Given the description of an element on the screen output the (x, y) to click on. 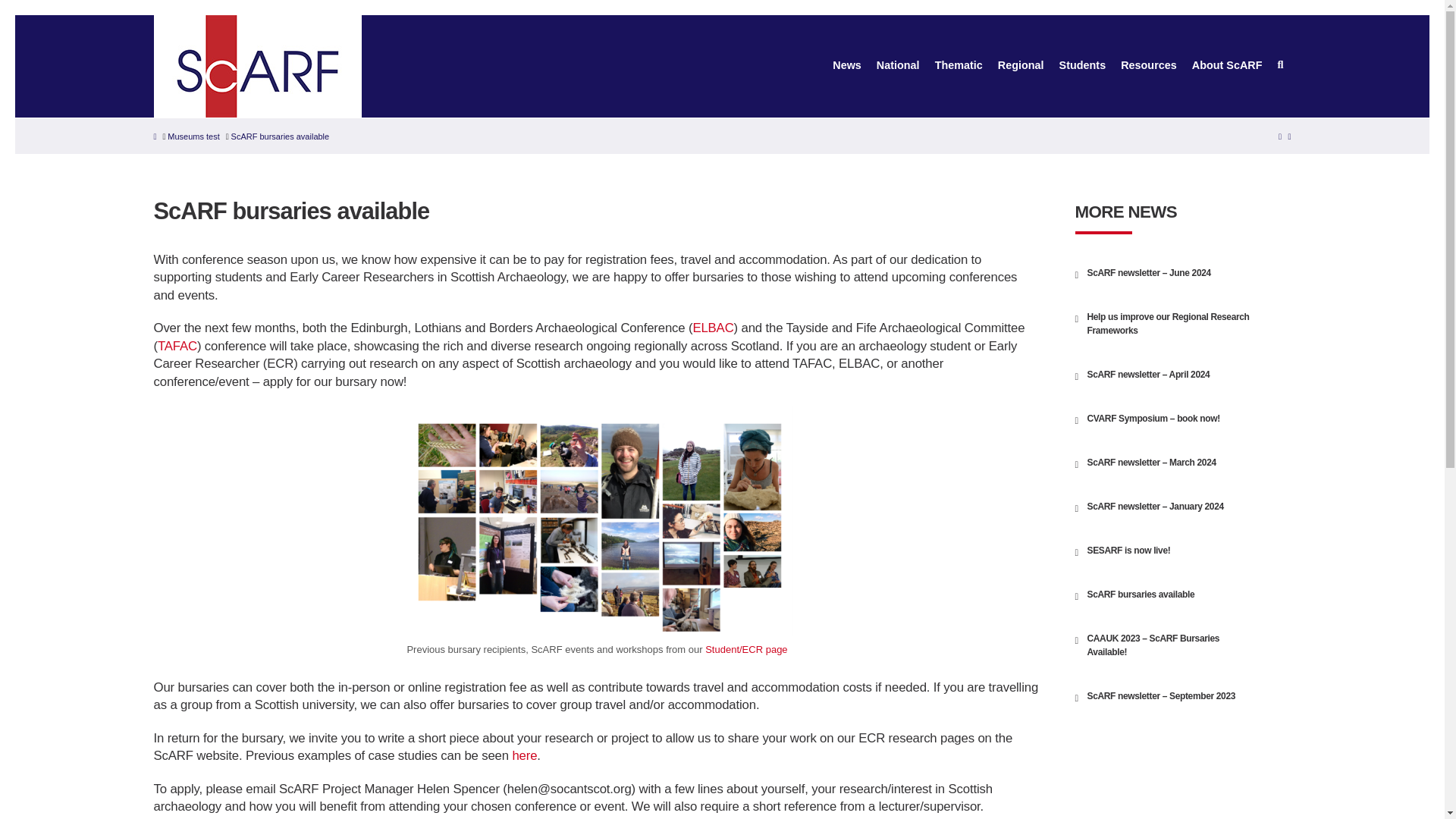
Regional (1020, 66)
Search (41, 21)
News (847, 66)
National (898, 66)
Resources (1149, 66)
Students (1082, 66)
Thematic (958, 66)
